Given the description of an element on the screen output the (x, y) to click on. 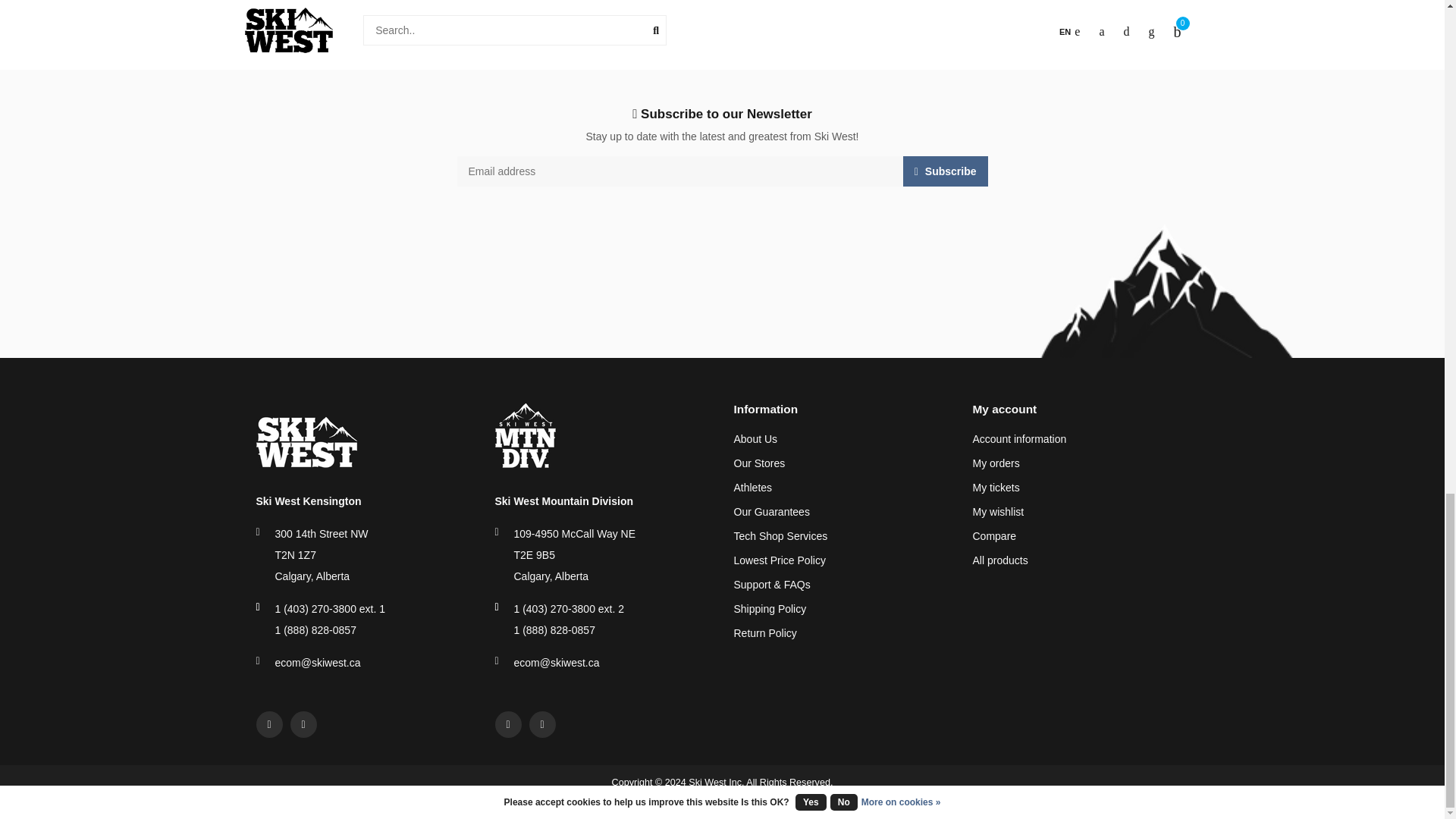
Our Stores (759, 463)
Our Guarantees (771, 512)
Athletes (753, 487)
Tech Shop Services (780, 536)
About Us (755, 439)
Lowest Price Policy (779, 560)
